Given the description of an element on the screen output the (x, y) to click on. 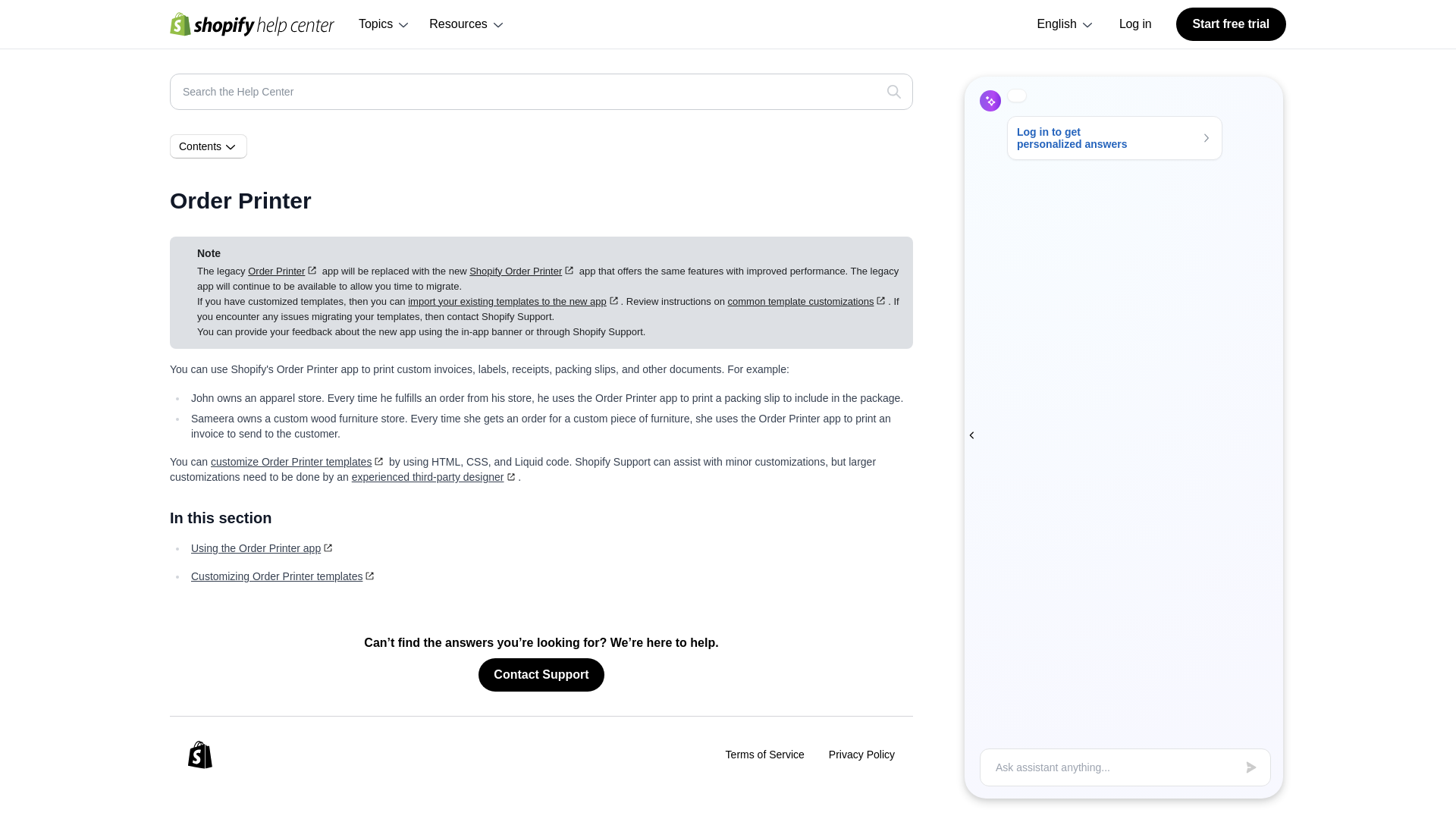
Customizing Order Printer templates (283, 576)
Using the Order Printer app (262, 548)
Start free trial (1230, 23)
Privacy Policy (861, 753)
Log in to get personalized answers (1115, 137)
English (1065, 24)
customize Order Printer templates (298, 461)
Contents (208, 146)
Shopify Order Printer (522, 270)
Topics (384, 24)
Log in (1135, 23)
Send (1250, 767)
Order Printer (282, 270)
Contact Support (541, 674)
